Given the description of an element on the screen output the (x, y) to click on. 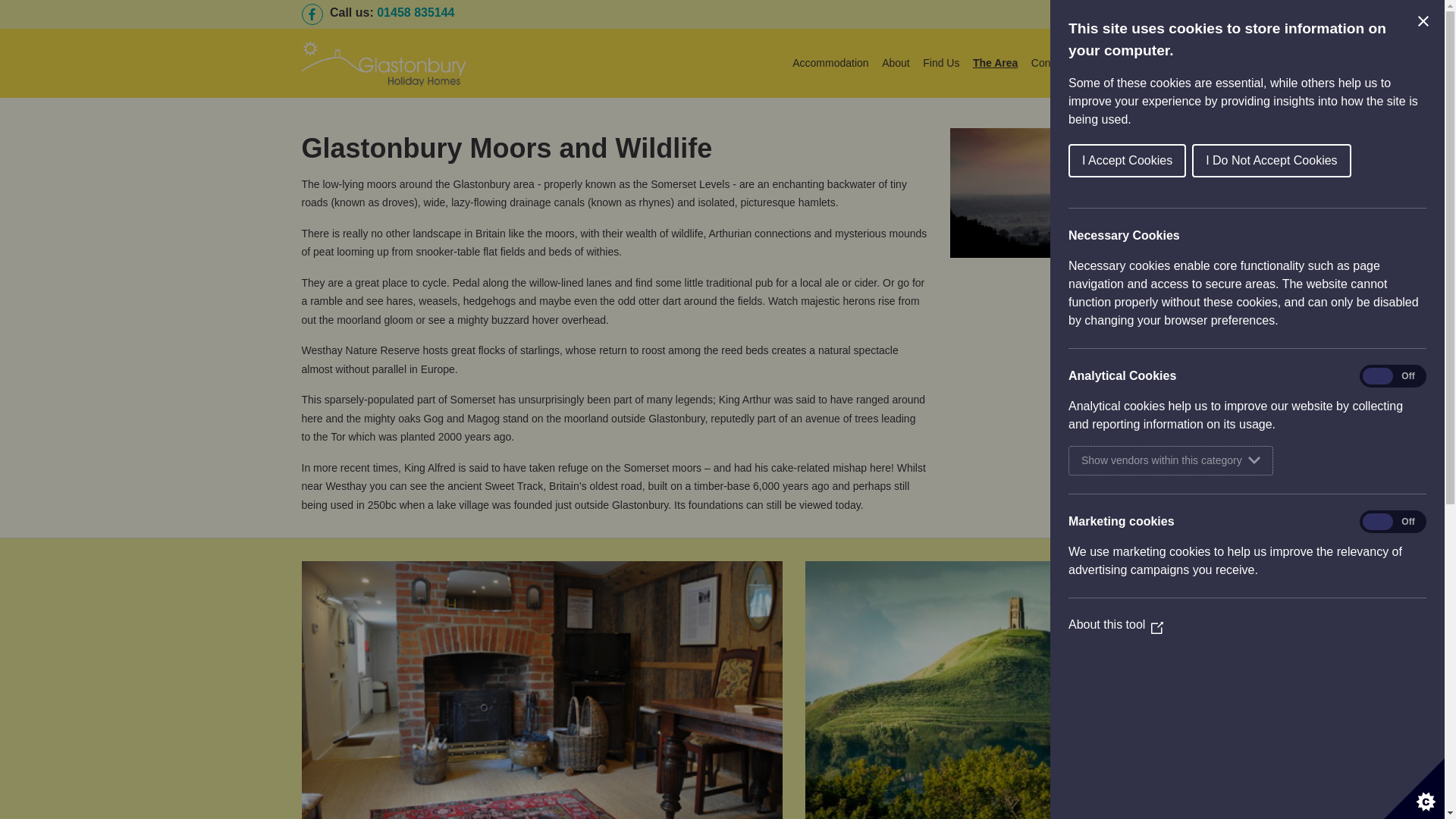
moors2.jpg (1045, 192)
About (896, 62)
01458 835144 (415, 11)
The Area (994, 62)
Contact us (1055, 62)
Facilities (1114, 62)
Accommodation (829, 62)
Find Us (941, 62)
